Given the description of an element on the screen output the (x, y) to click on. 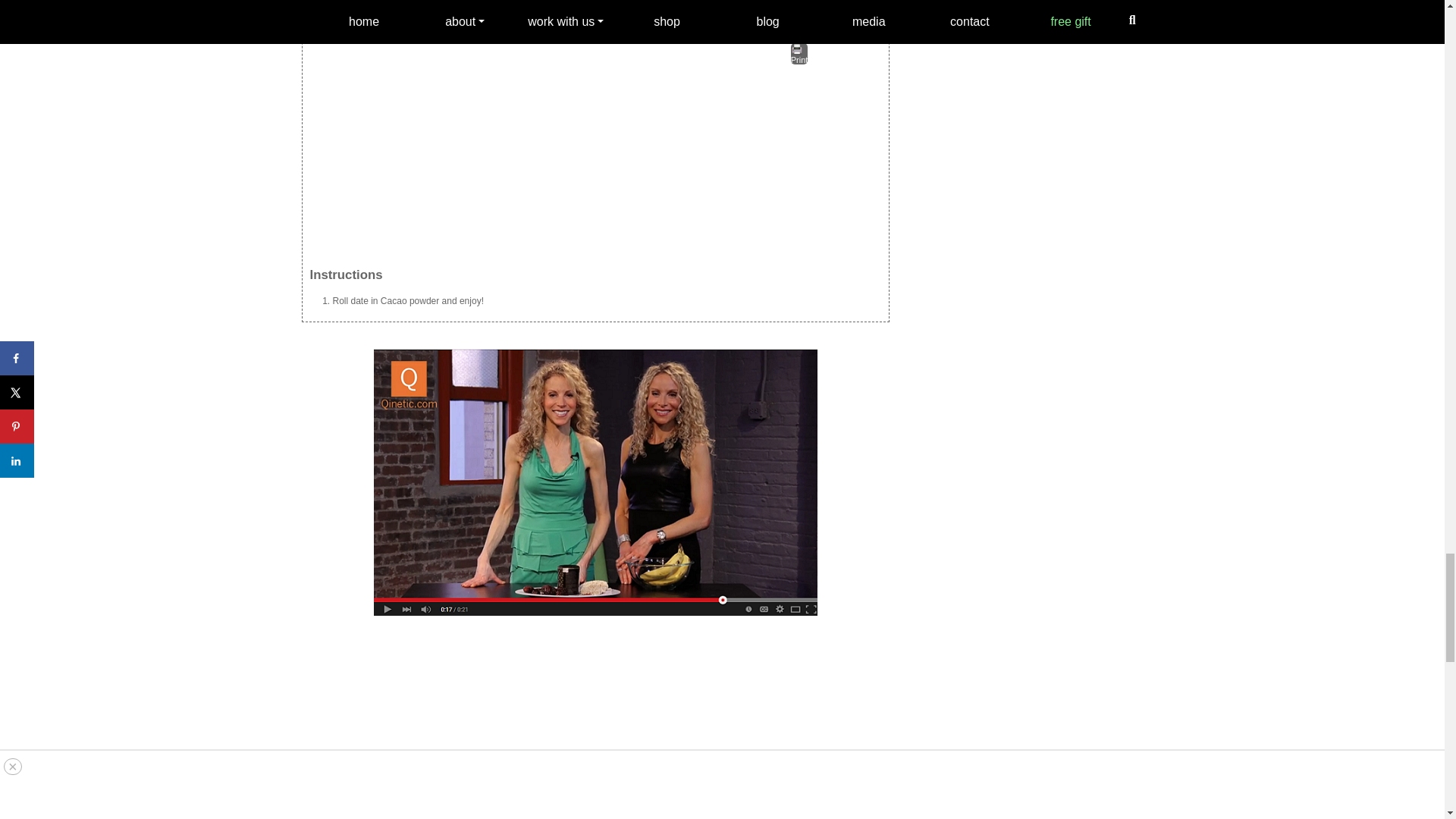
Print (799, 53)
